Given the description of an element on the screen output the (x, y) to click on. 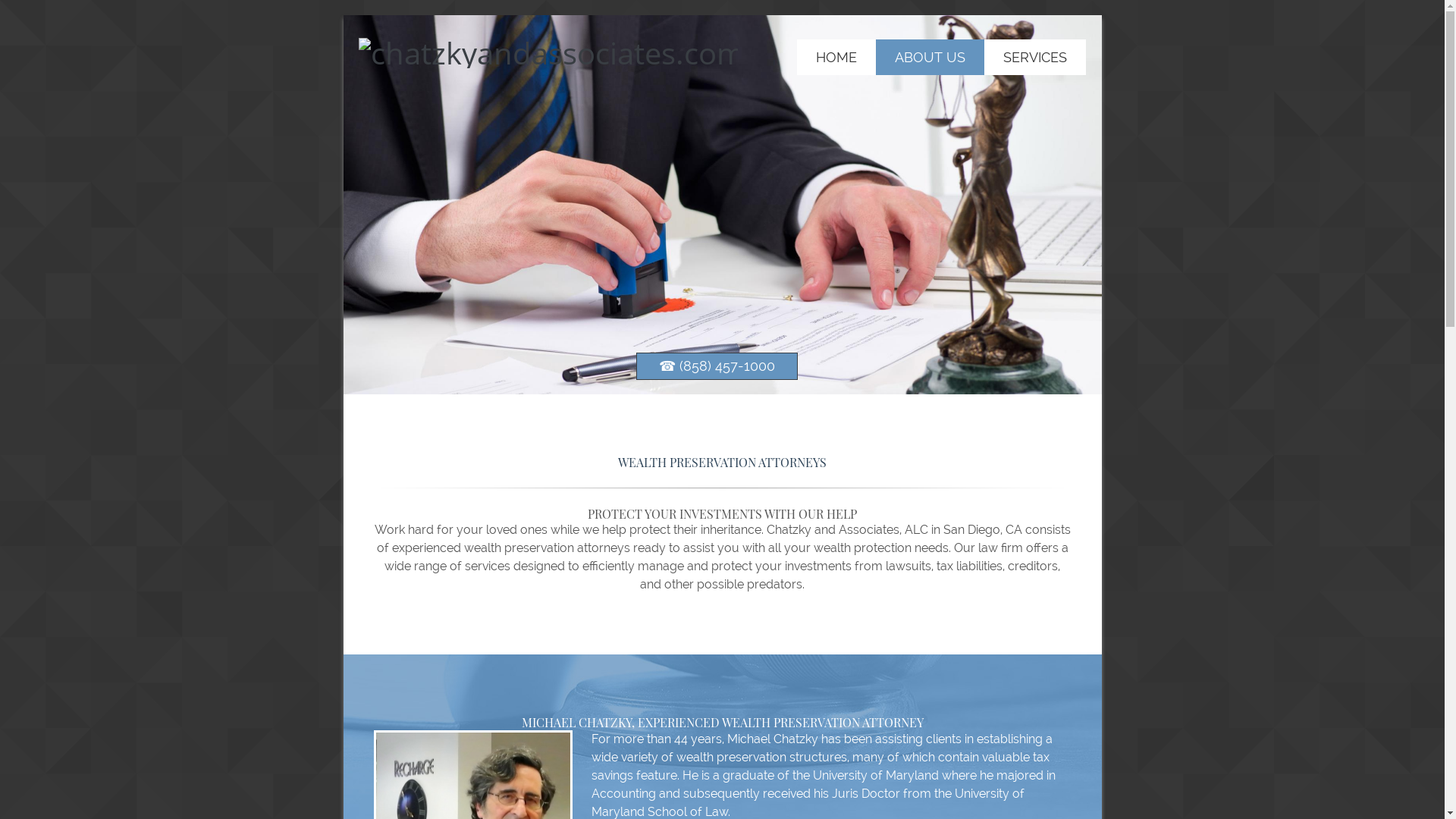
Go to site home page (547, 52)
About Us (930, 57)
Home (836, 57)
SERVICES (1035, 57)
HOME (836, 57)
ABOUT US (930, 57)
Go to site home page (547, 56)
Services (1035, 57)
Attorney Michael Chatzky (472, 774)
